Given the description of an element on the screen output the (x, y) to click on. 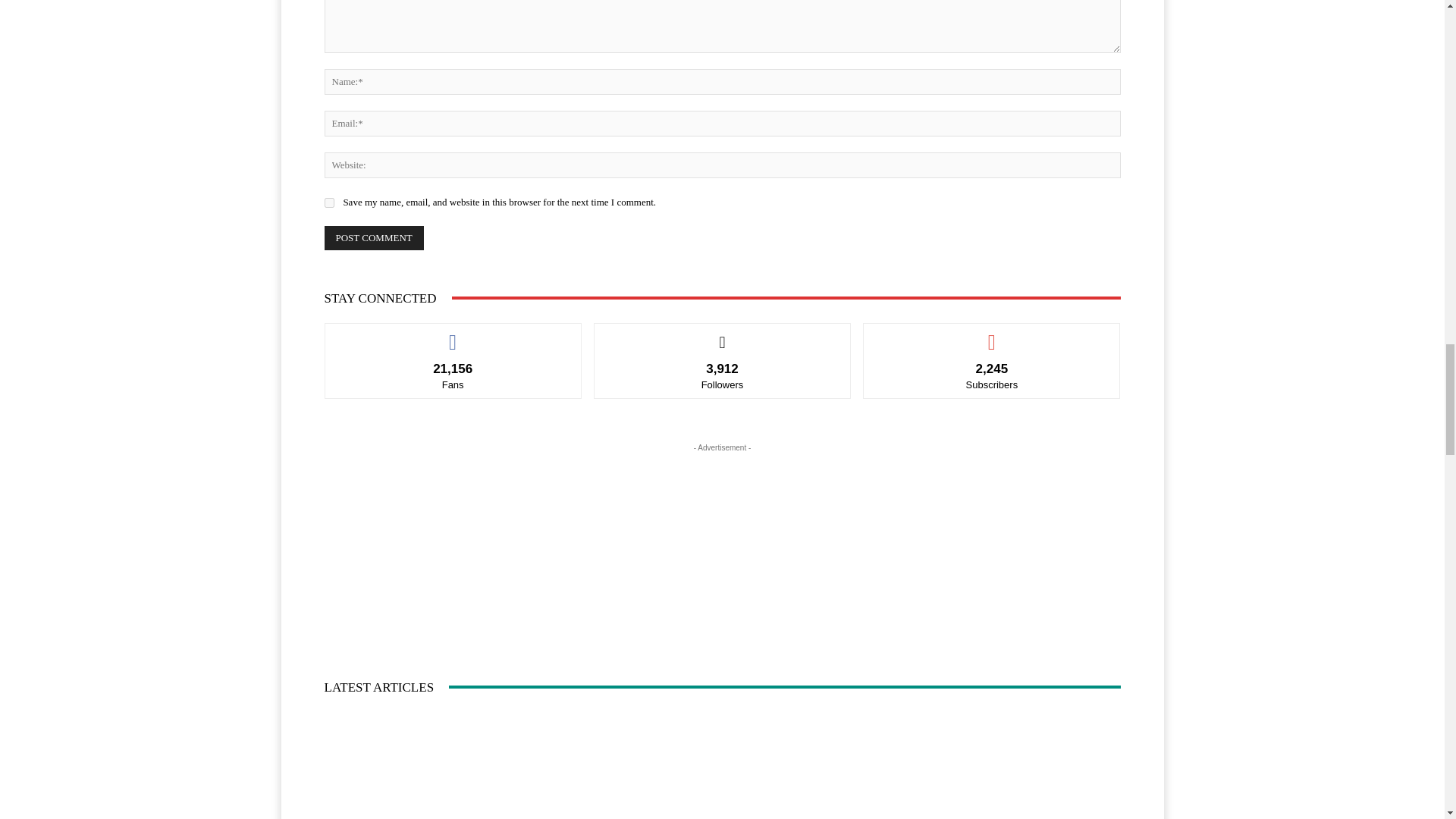
yes (329, 203)
Post Comment (373, 238)
